Given the description of an element on the screen output the (x, y) to click on. 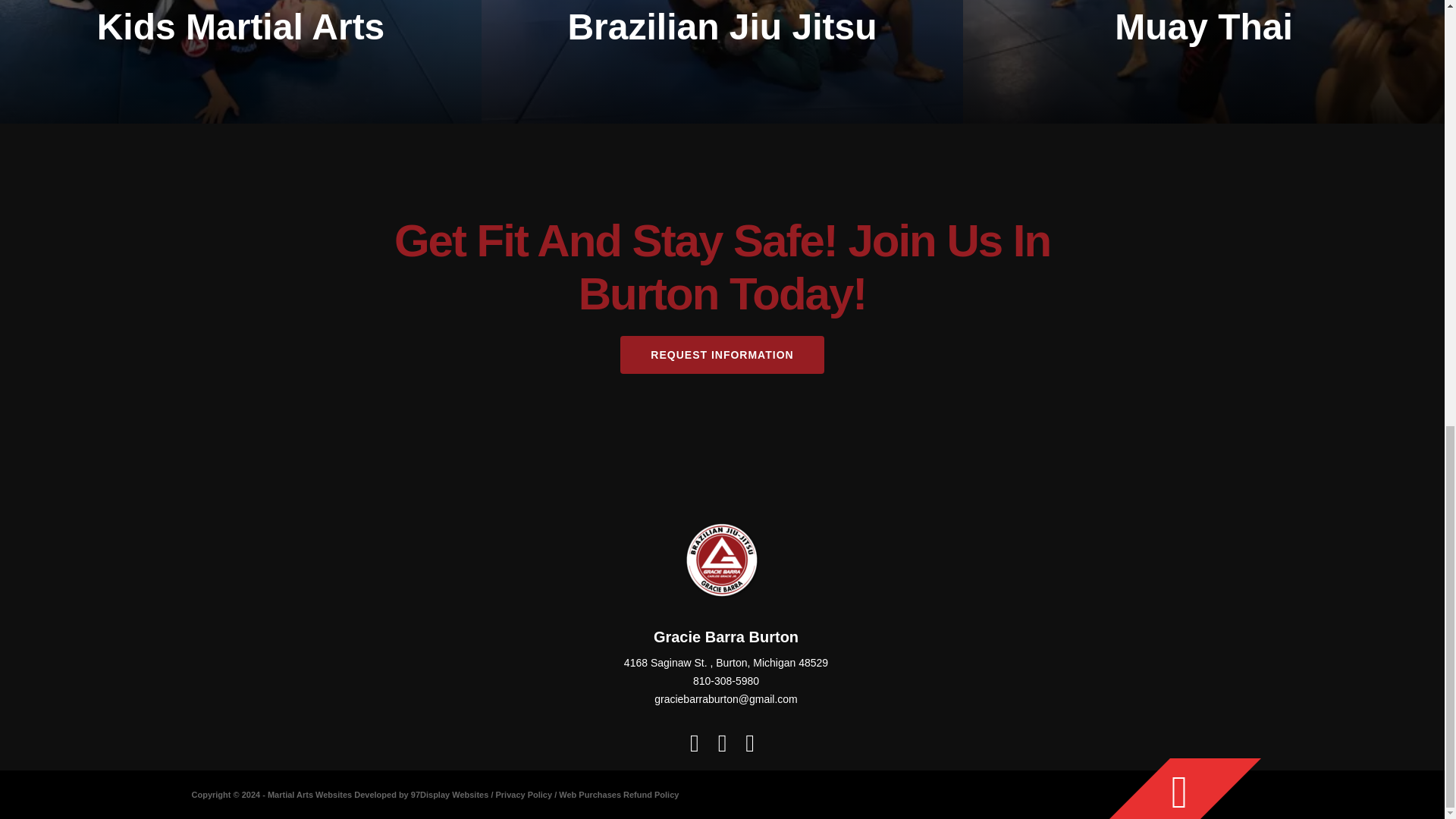
Kids Martial Arts (240, 61)
Brazilian Jiu Jitsu (721, 61)
